Given the description of an element on the screen output the (x, y) to click on. 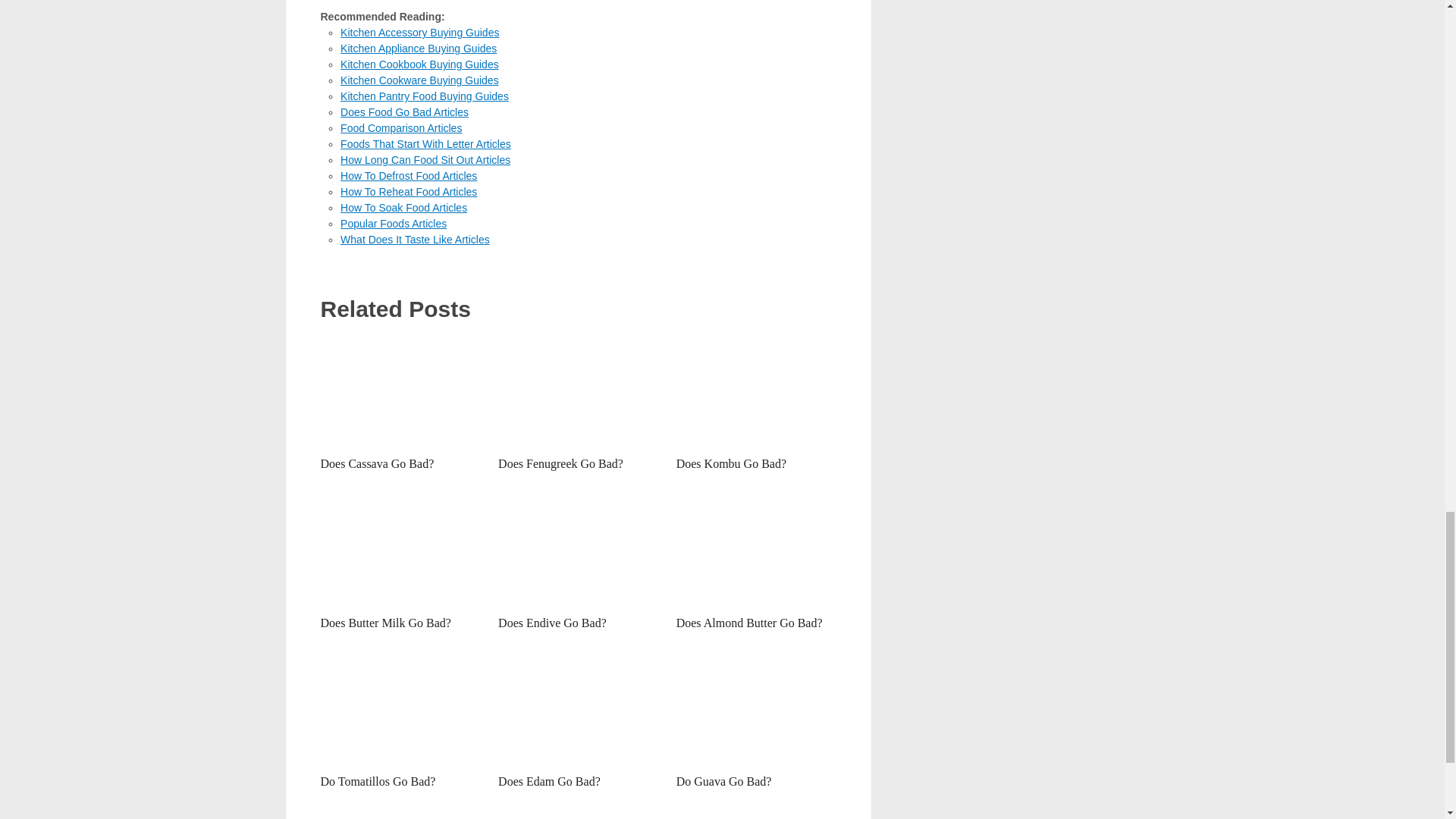
Does Fenugreek Go Bad? (560, 463)
Does Fenugreek Go Bad? (577, 390)
Does Cassava Go Bad? (400, 390)
Does Butter Milk Go Bad? (400, 550)
Does Cassava Go Bad? (376, 463)
Does Kombu Go Bad? (756, 390)
Does Endive Go Bad? (577, 550)
Does Kombu Go Bad? (731, 463)
Does Butter Milk Go Bad? (384, 622)
